Given the description of an element on the screen output the (x, y) to click on. 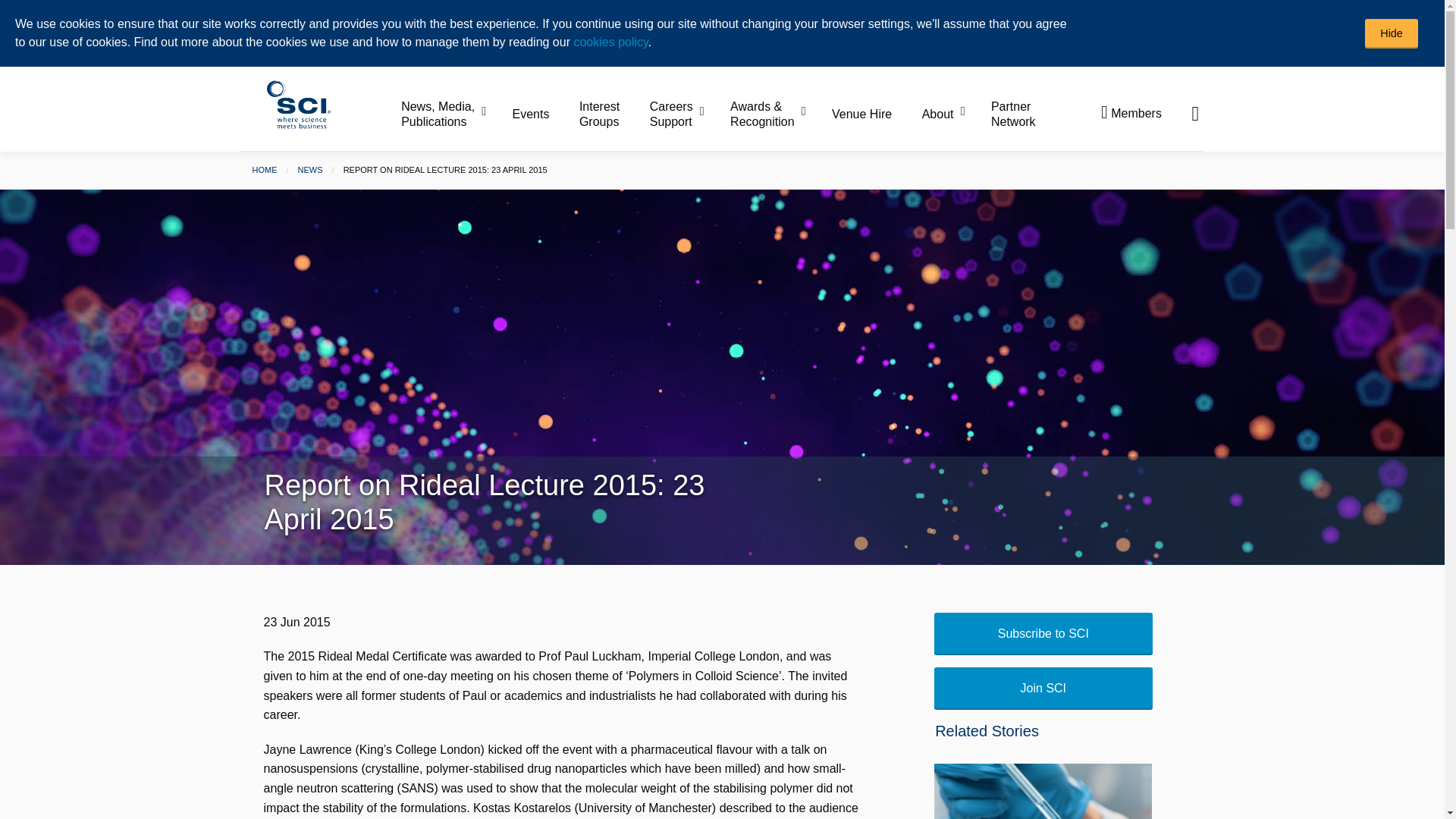
Hide (1391, 33)
Venue Hire (874, 113)
Interest Groups (612, 114)
Careers Support (687, 114)
Partner Network (1013, 114)
News, Media, Publications (454, 114)
cookies policy (610, 42)
About (954, 113)
Events (544, 113)
